Given the description of an element on the screen output the (x, y) to click on. 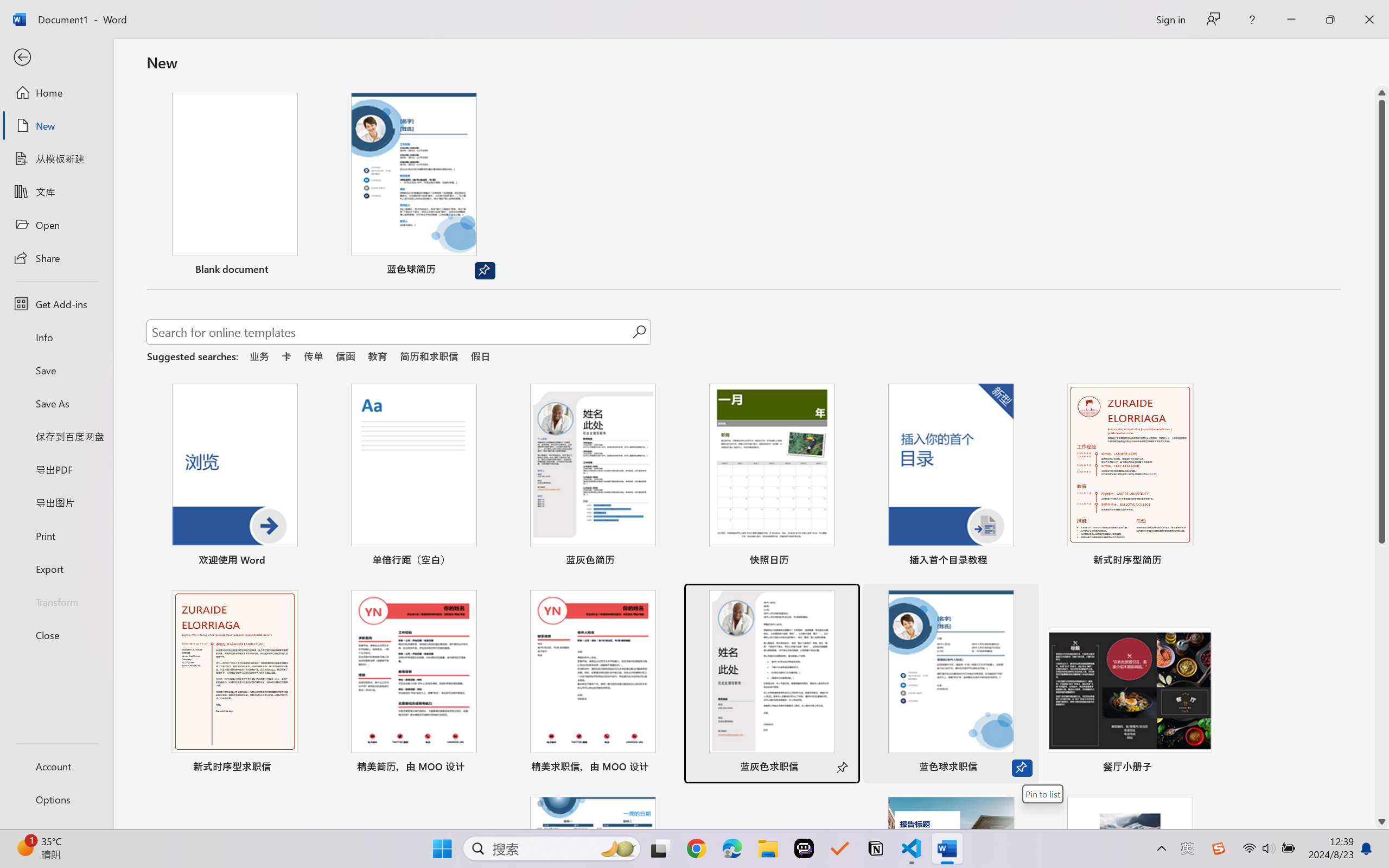
Export (56, 568)
Transform (56, 601)
New (56, 125)
Start searching (638, 332)
Line up (1382, 92)
